Given the description of an element on the screen output the (x, y) to click on. 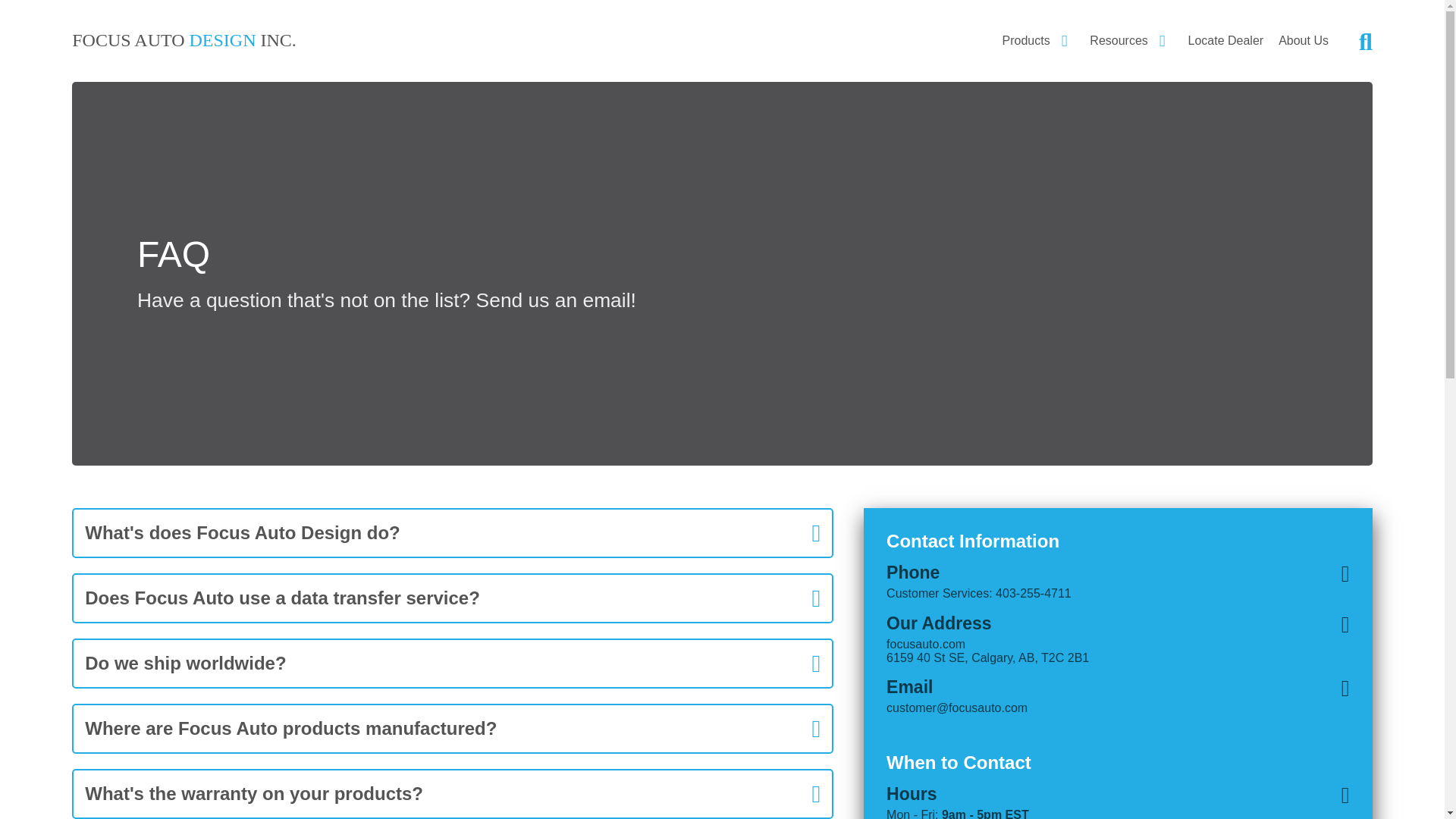
FOCUS AUTO DESIGN INC. (184, 42)
Locate Dealer (1225, 40)
What's does Focus Auto Design do? (452, 532)
Resources (1130, 40)
Products (1039, 40)
Where are Focus Auto products manufactured? (452, 728)
About Us (1302, 40)
Do we ship worldwide? (452, 663)
Does Focus Auto use a data transfer service? (452, 598)
What's the warranty on your products? (452, 793)
